Given the description of an element on the screen output the (x, y) to click on. 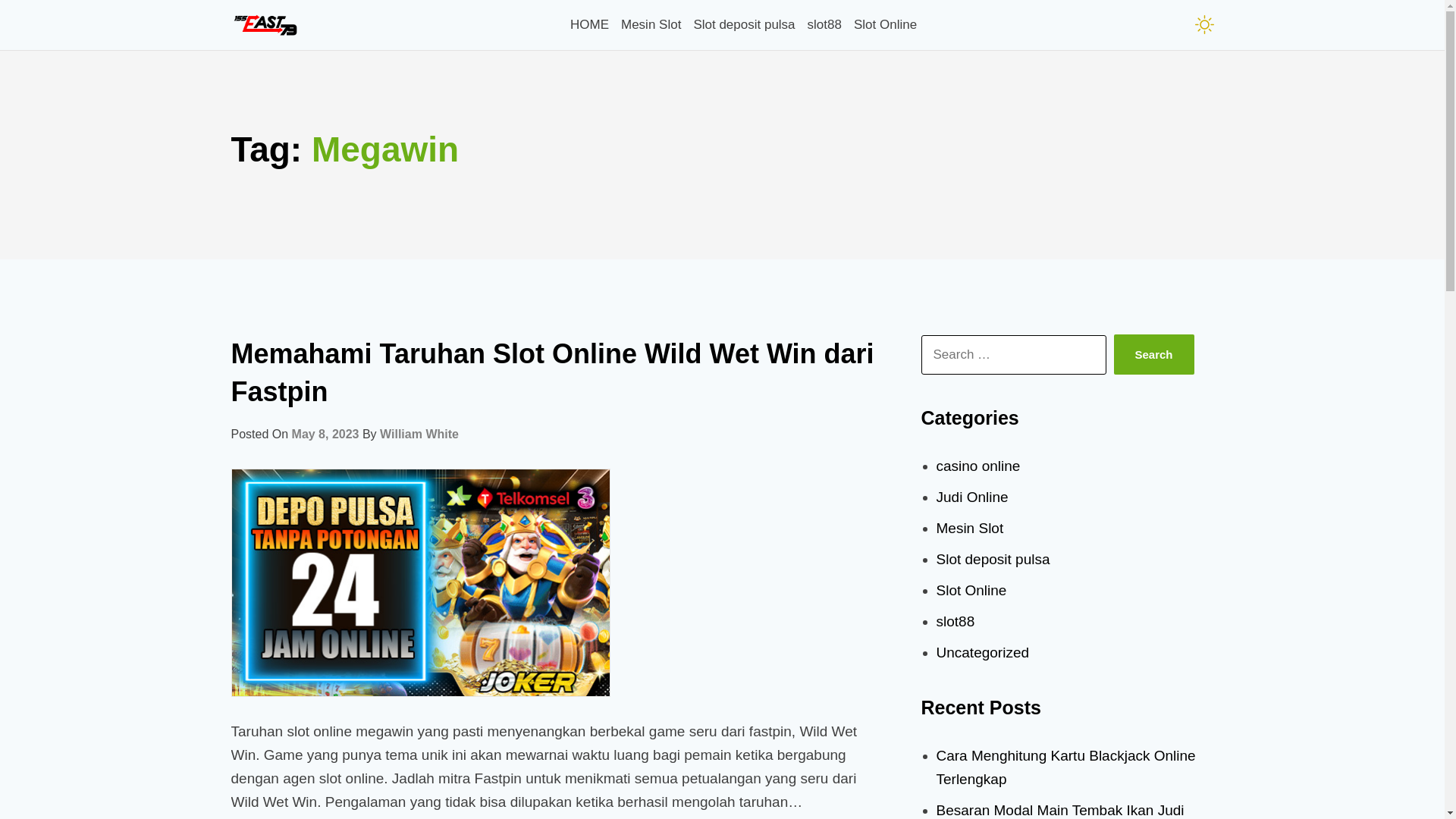
May 8, 2023 Element type: text (325, 433)
Cara Menghitung Kartu Blackjack Online Terlengkap Element type: text (1065, 767)
slot88 Element type: text (954, 621)
Mesin Slot Element type: text (969, 528)
slot88 Element type: text (824, 24)
Slot Online Element type: text (970, 590)
Mesin Slot Element type: text (651, 24)
Search Element type: text (1153, 354)
HOME Element type: text (589, 24)
Slot deposit pulsa Element type: text (992, 559)
Memahami Taruhan Slot Online Wild Wet Win dari Fastpin Element type: text (551, 372)
casino online Element type: text (977, 465)
Slot Online Element type: text (884, 24)
Uncategorized Element type: text (982, 652)
Judi Online Element type: text (971, 497)
Slot deposit pulsa Element type: text (743, 24)
William White Element type: text (418, 433)
